Given the description of an element on the screen output the (x, y) to click on. 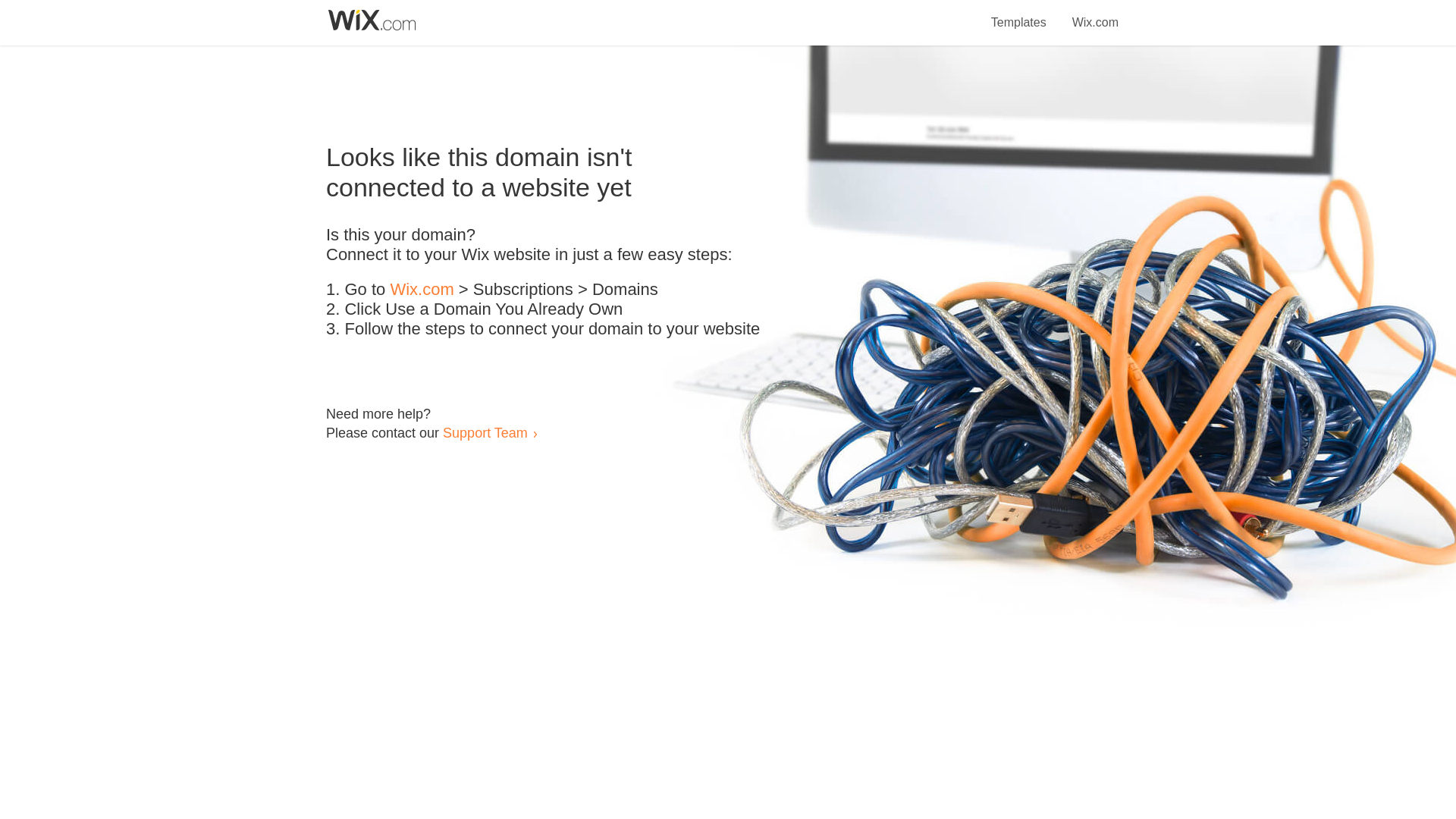
Wix.com (1095, 14)
Wix.com (421, 289)
Templates (1018, 14)
Support Team (484, 432)
